Given the description of an element on the screen output the (x, y) to click on. 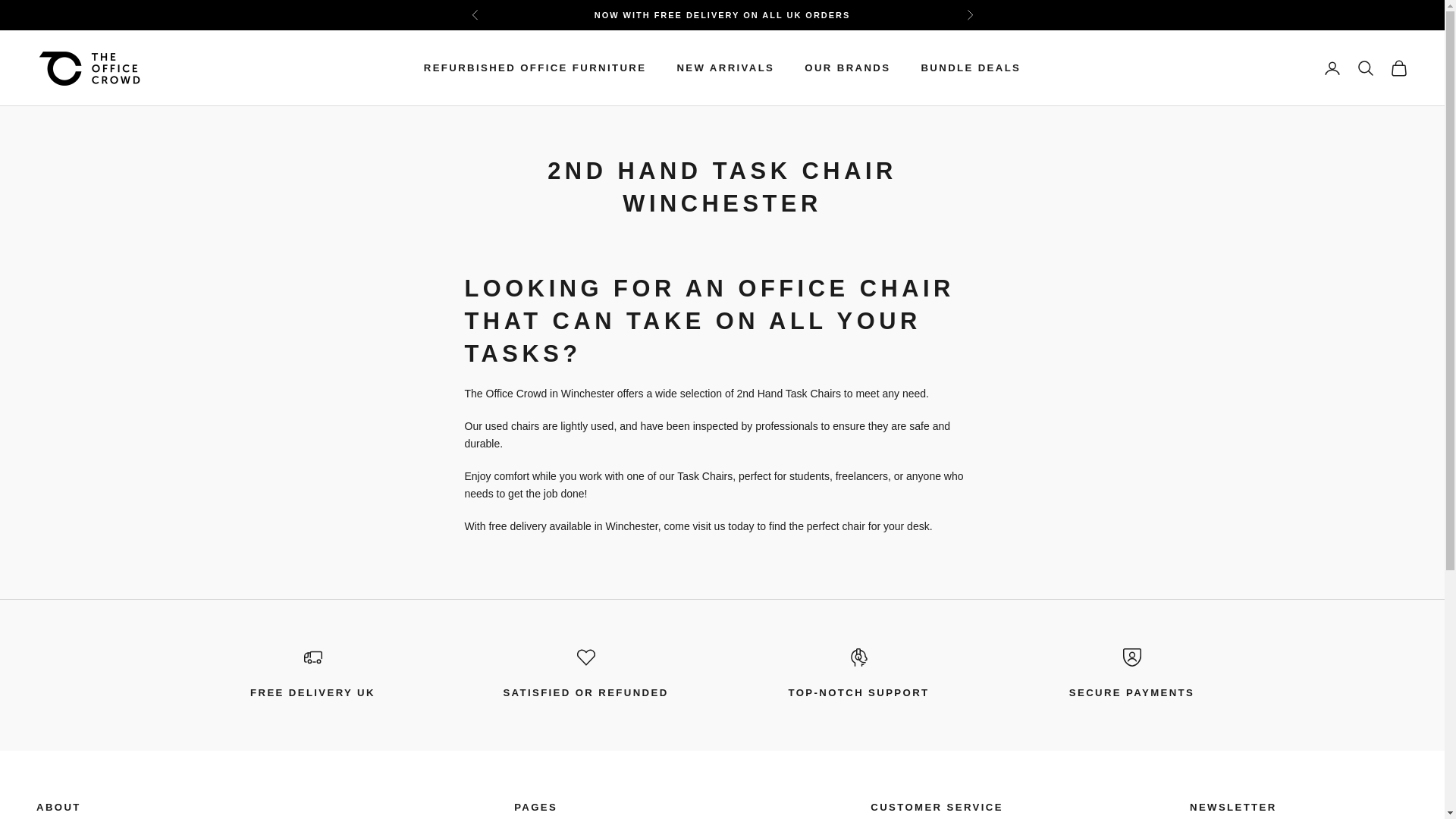
Previous (474, 15)
OUR BRANDS (847, 67)
Open search (1365, 67)
The Office Crowd (89, 67)
NEW ARRIVALS (725, 67)
BUNDLE DEALS (970, 67)
Next (968, 15)
Open account page (1331, 67)
Open cart (1398, 67)
